Given the description of an element on the screen output the (x, y) to click on. 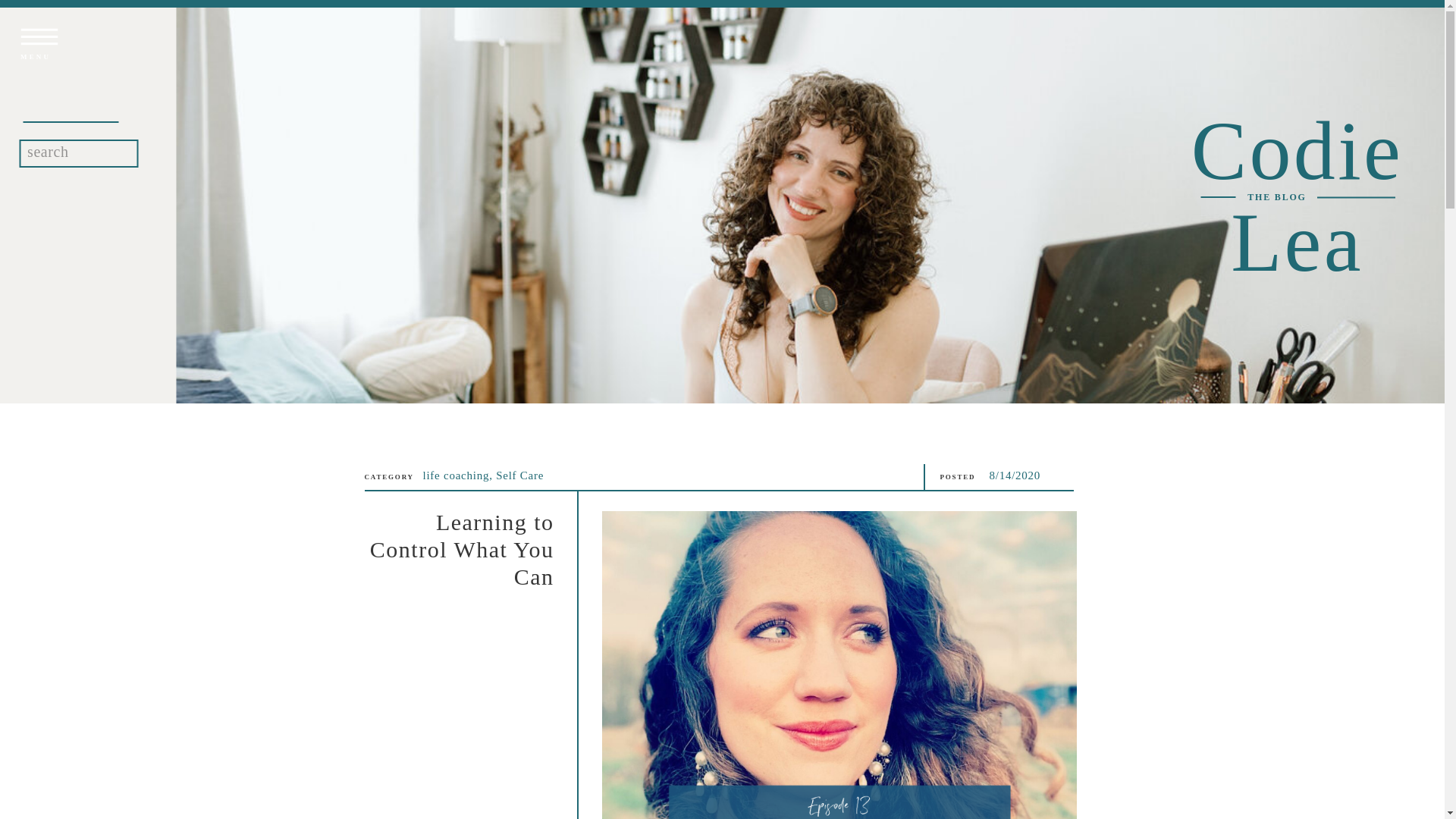
life coaching (456, 475)
Self Care (519, 475)
